Given the description of an element on the screen output the (x, y) to click on. 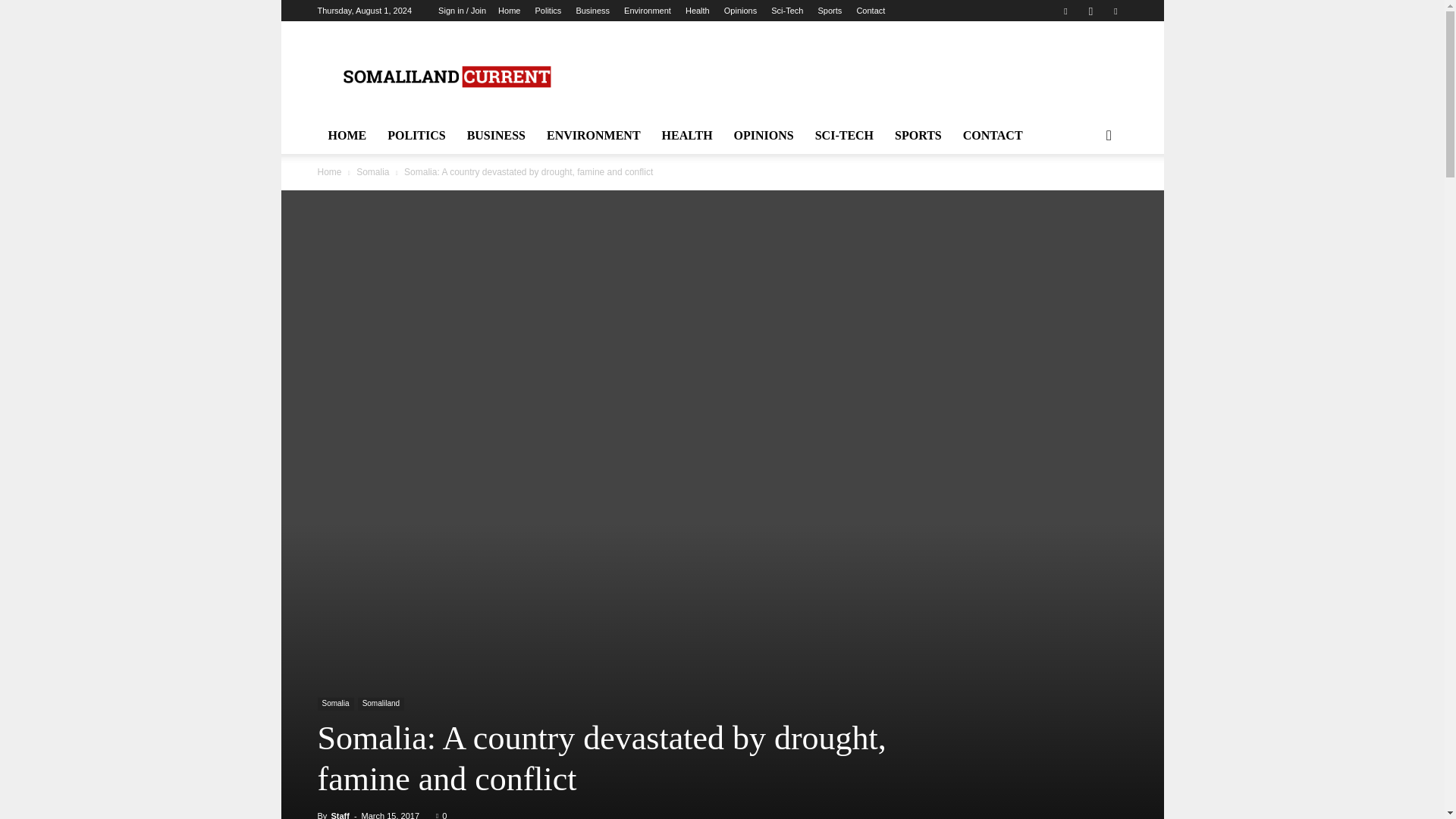
Politics (548, 10)
Instagram (1090, 10)
Home (508, 10)
somalilandcurrent.com logo (445, 76)
Twitter (1114, 10)
View all posts in Somalia (372, 172)
Facebook (1065, 10)
